Given the description of an element on the screen output the (x, y) to click on. 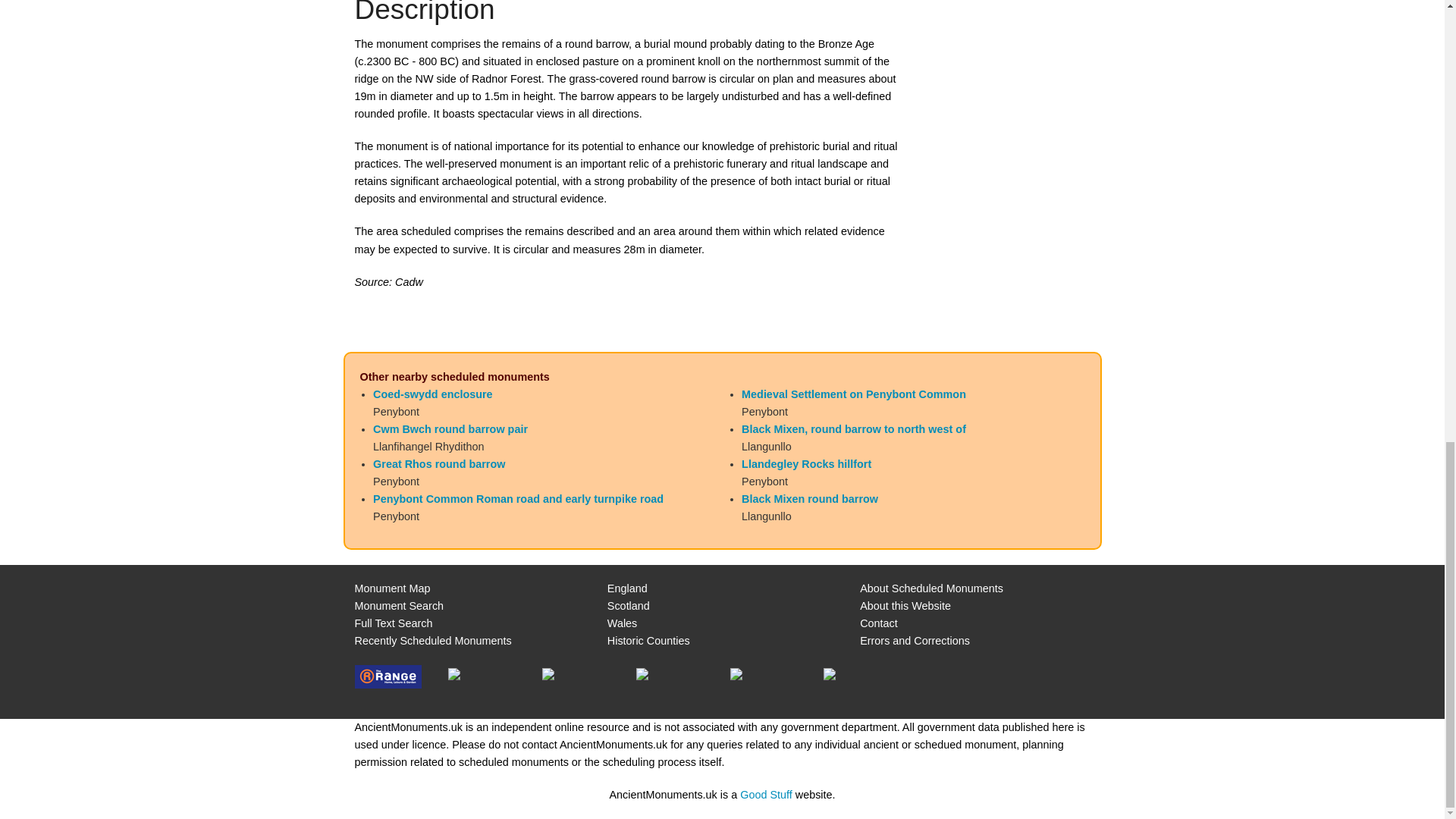
Great Rhos round barrow (438, 463)
Coed-swydd enclosure (432, 394)
Penybont Common Roman road and early turnpike road (517, 499)
Medieval Settlement on Penybont Common (853, 394)
Cwm Bwch round barrow pair (449, 428)
